Given the description of an element on the screen output the (x, y) to click on. 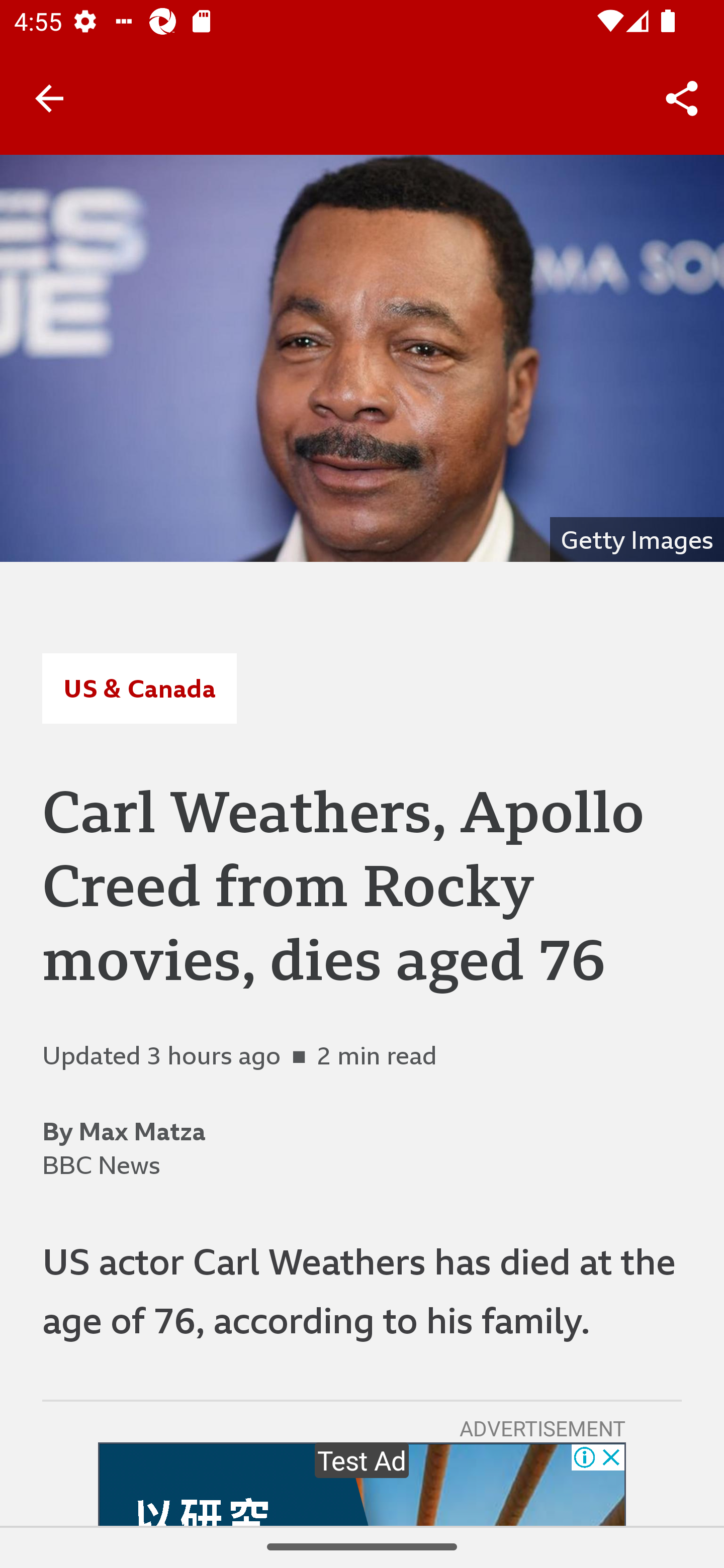
Back (49, 97)
Share (681, 98)
Carl Weathers (362, 358)
US & Canada (138, 688)
